Given the description of an element on the screen output the (x, y) to click on. 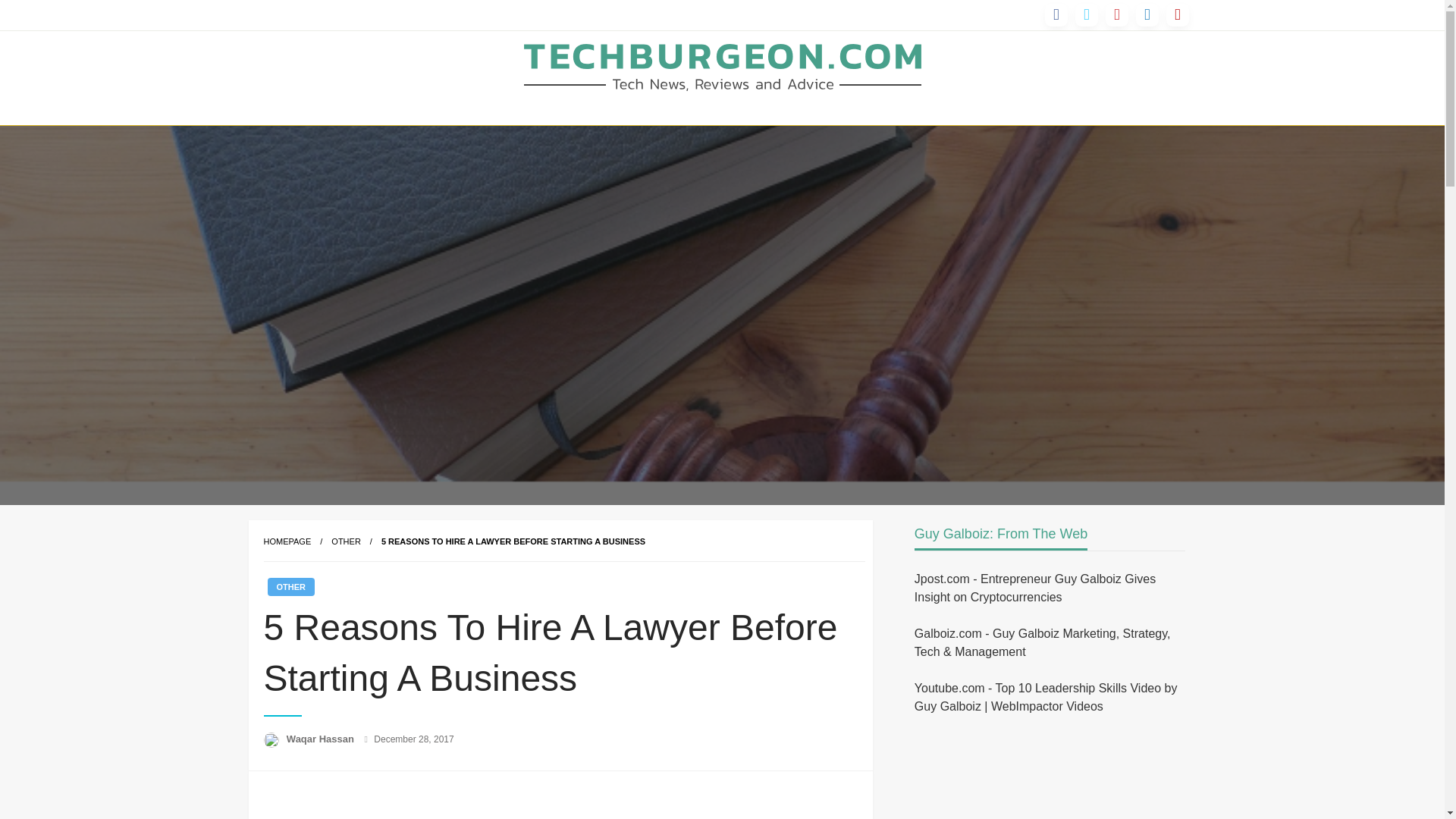
Homepage (287, 541)
Other (346, 541)
Waqar Hassan (321, 738)
Tech Blog by Guy Galboiz (692, 121)
5 Reasons To Hire A Lawyer Before Starting A Business (513, 541)
